Given the description of an element on the screen output the (x, y) to click on. 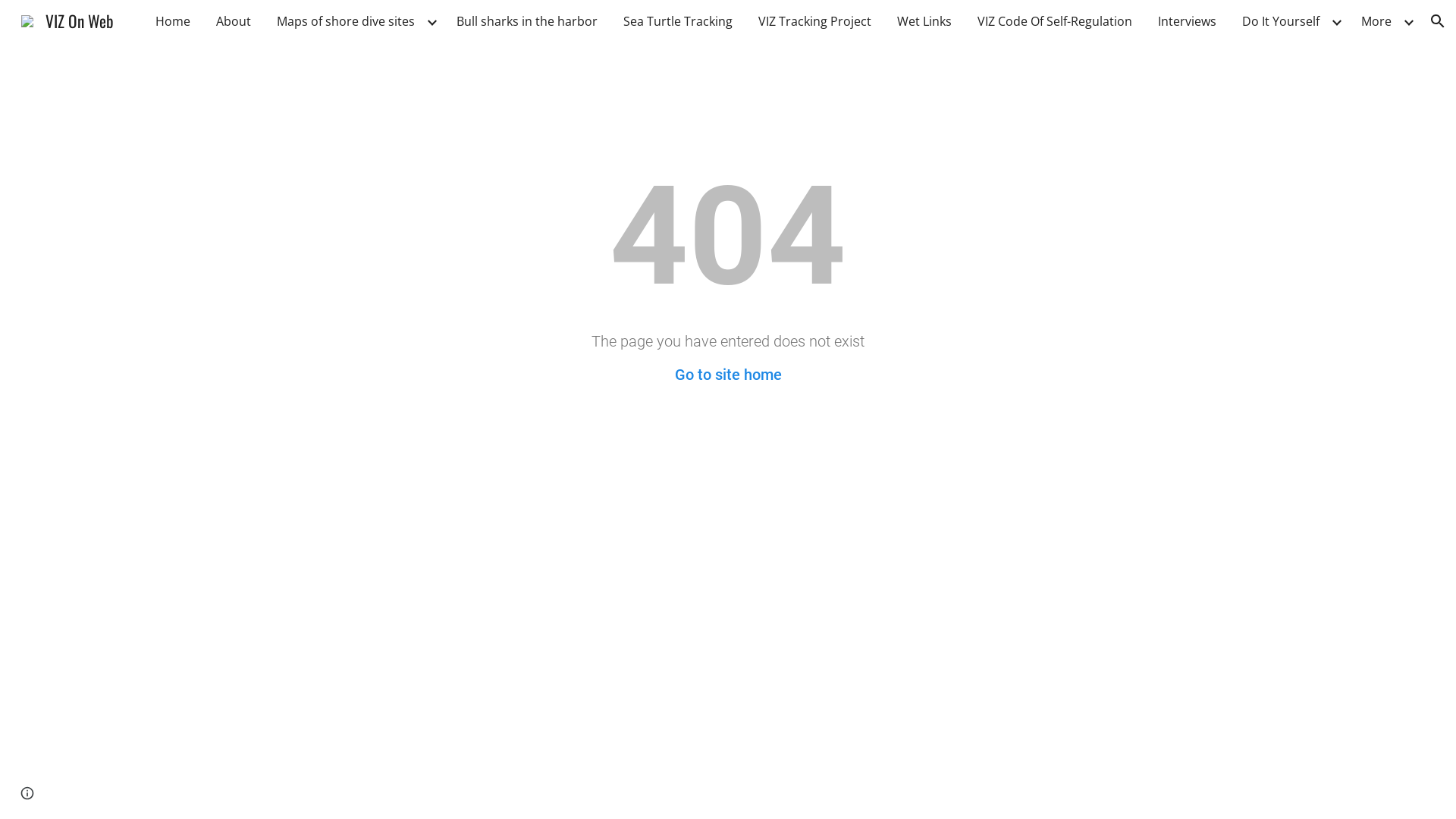
Sea Turtle Tracking Element type: text (677, 20)
Wet Links Element type: text (924, 20)
Expand/Collapse Element type: hover (431, 20)
Interviews Element type: text (1186, 20)
VIZ Code Of Self-Regulation Element type: text (1054, 20)
Expand/Collapse Element type: hover (1336, 20)
About Element type: text (233, 20)
Expand/Collapse Element type: hover (1408, 20)
Maps of shore dive sites Element type: text (345, 20)
VIZ Tracking Project Element type: text (814, 20)
More Element type: text (1376, 20)
Bull sharks in the harbor Element type: text (526, 20)
Go to site home Element type: text (727, 374)
Home Element type: text (172, 20)
VIZ On Web Element type: text (67, 18)
Do It Yourself Element type: text (1280, 20)
